Given the description of an element on the screen output the (x, y) to click on. 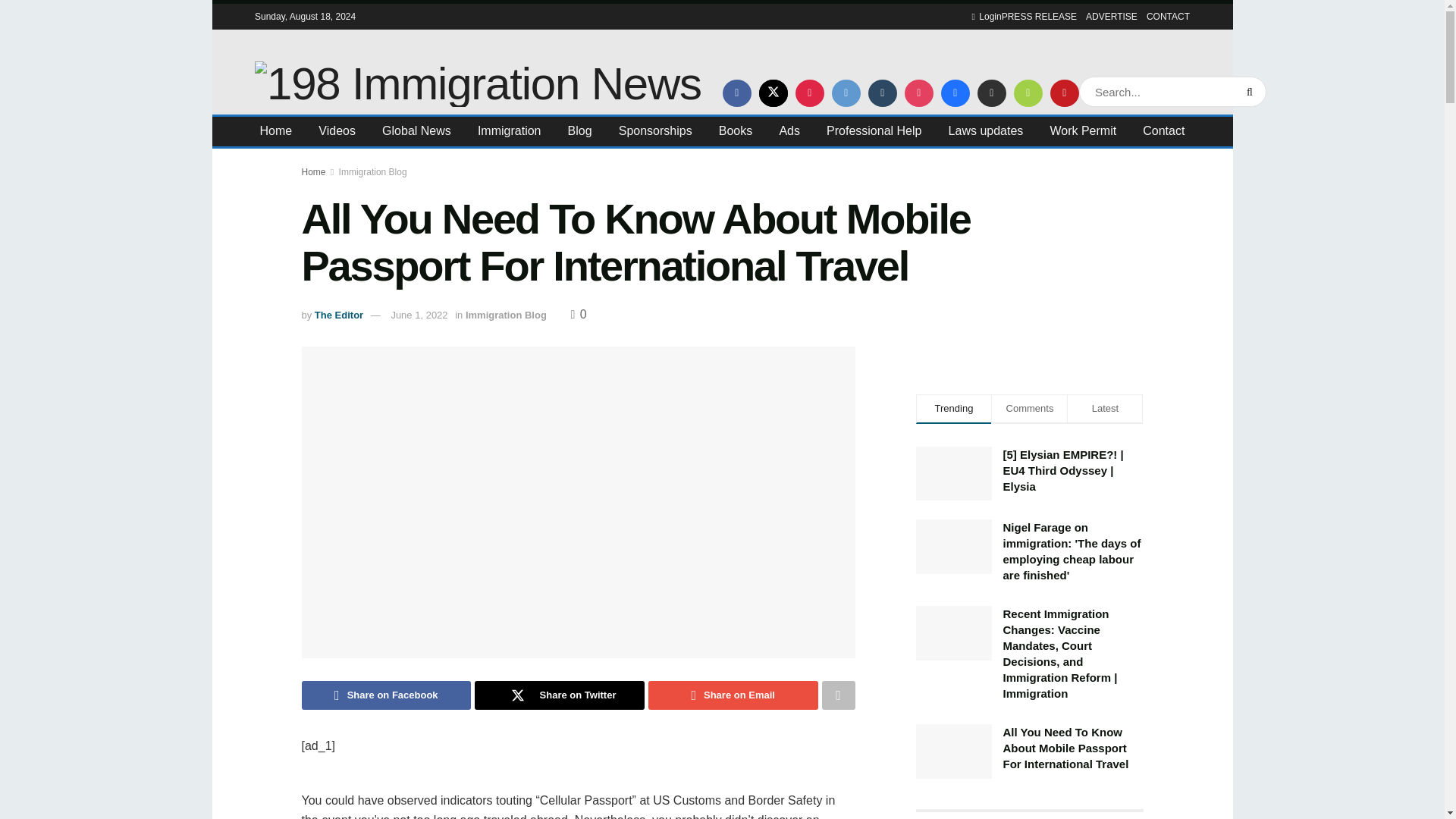
Books (735, 130)
Login (986, 16)
Blog (579, 130)
Work Permit (1082, 130)
Contact (1163, 130)
Laws updates (986, 130)
CONTACT (1168, 16)
Videos (336, 130)
ADVERTISE (1111, 16)
Sponsorships (655, 130)
